Given the description of an element on the screen output the (x, y) to click on. 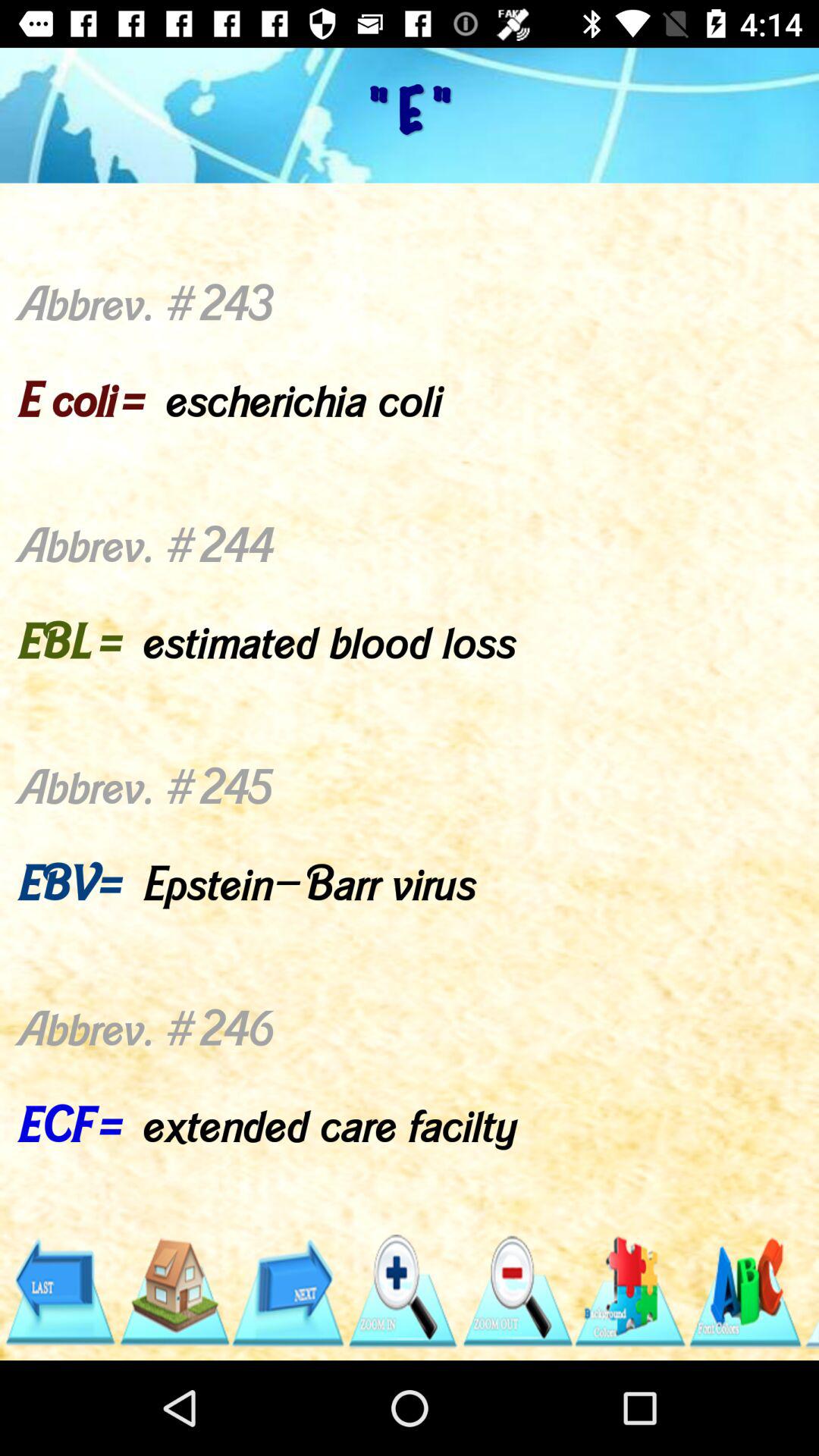
go forward (287, 1291)
